Given the description of an element on the screen output the (x, y) to click on. 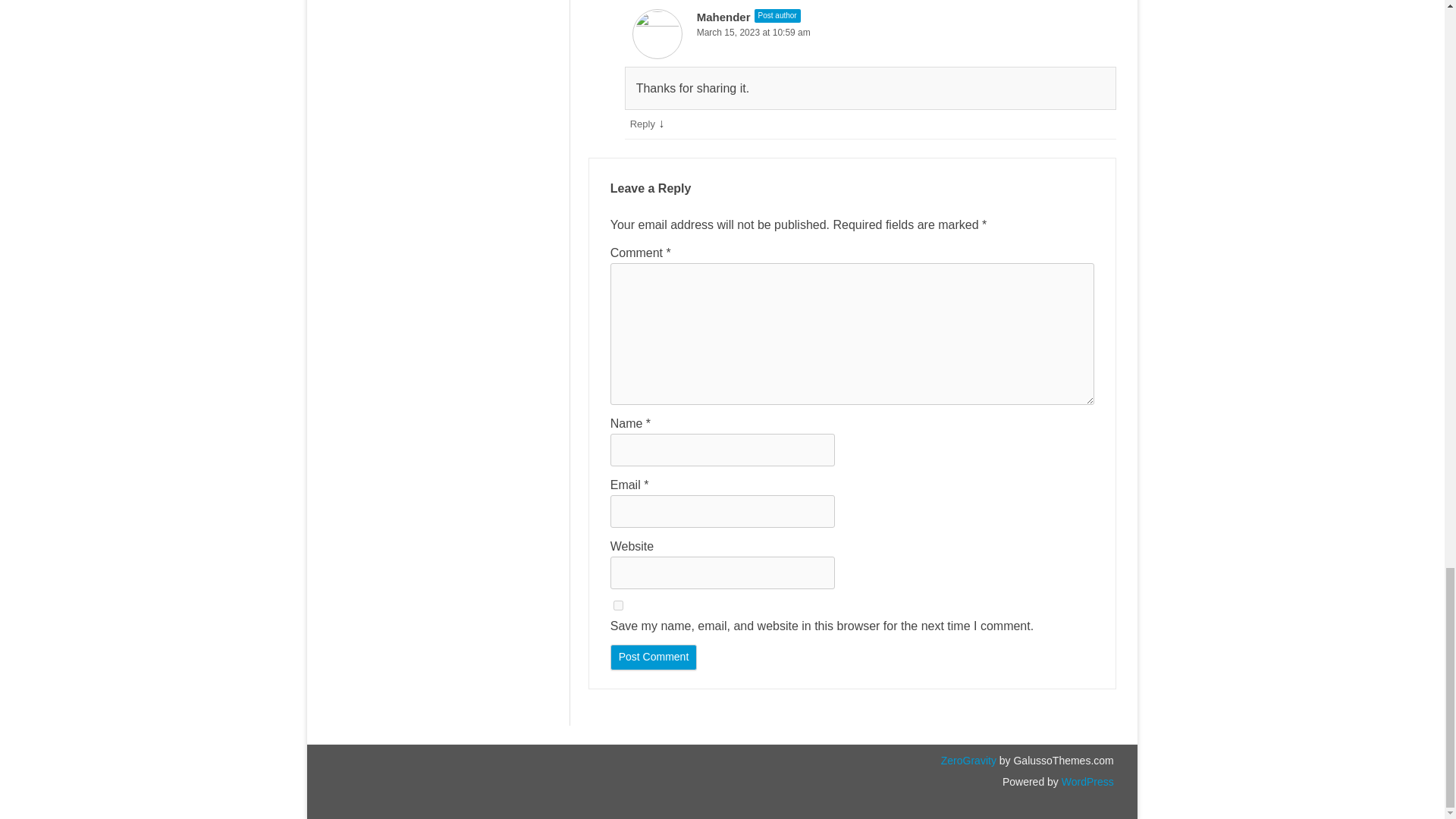
Post Comment (653, 657)
yes (617, 605)
Semantic Personal Publishing Platform (1085, 781)
Mahender (724, 16)
Reply (642, 123)
March 15, 2023 at 10:59 am (870, 32)
